Given the description of an element on the screen output the (x, y) to click on. 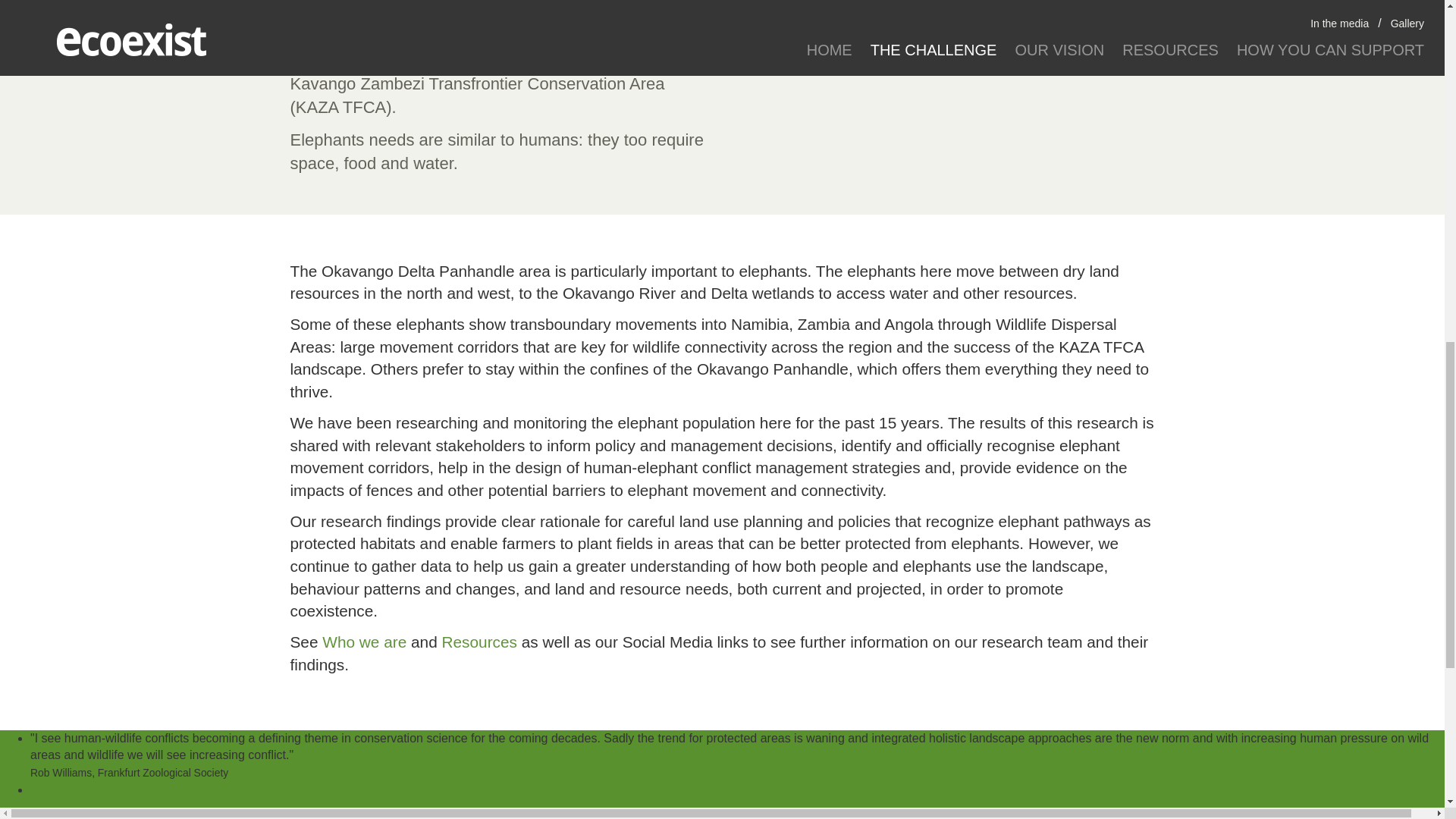
Resources (479, 641)
Who we are (363, 641)
